Given the description of an element on the screen output the (x, y) to click on. 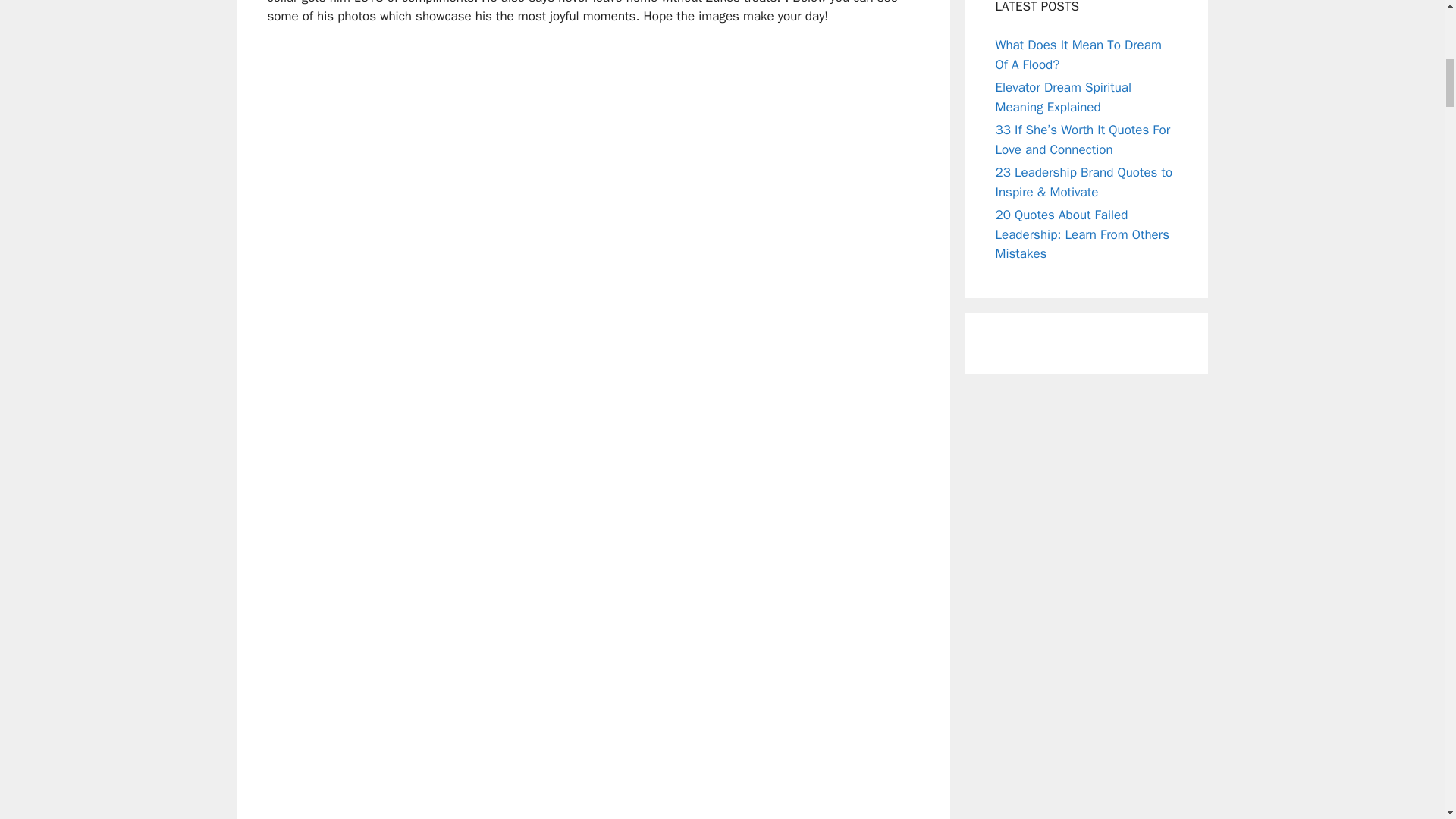
What Does It Mean To Dream Of A Flood? (1077, 54)
Elevator Dream Spiritual Meaning Explained (1062, 97)
